Given the description of an element on the screen output the (x, y) to click on. 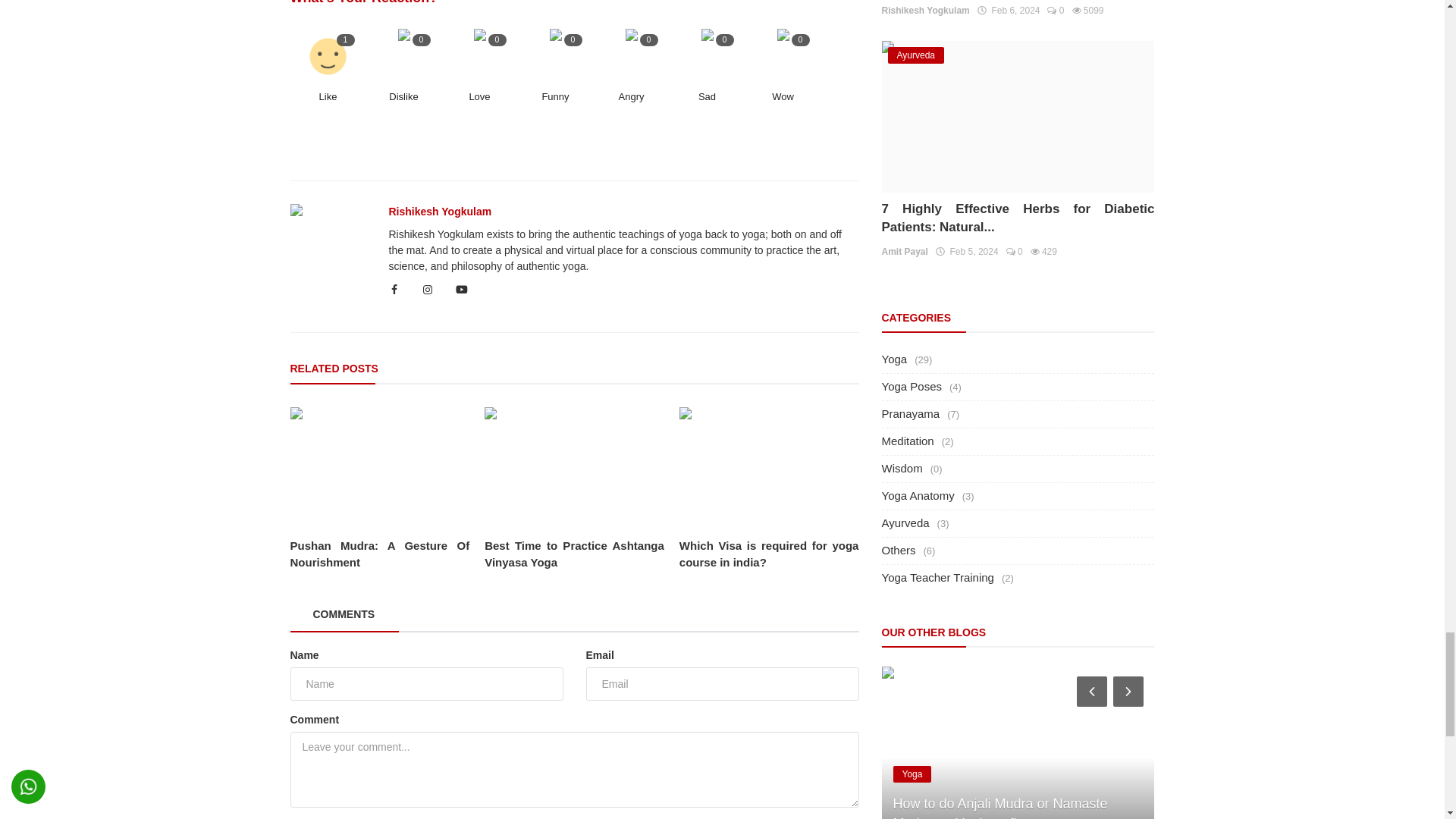
Pushan Mudra: A Gesture Of Nourishment (378, 467)
